Given the description of an element on the screen output the (x, y) to click on. 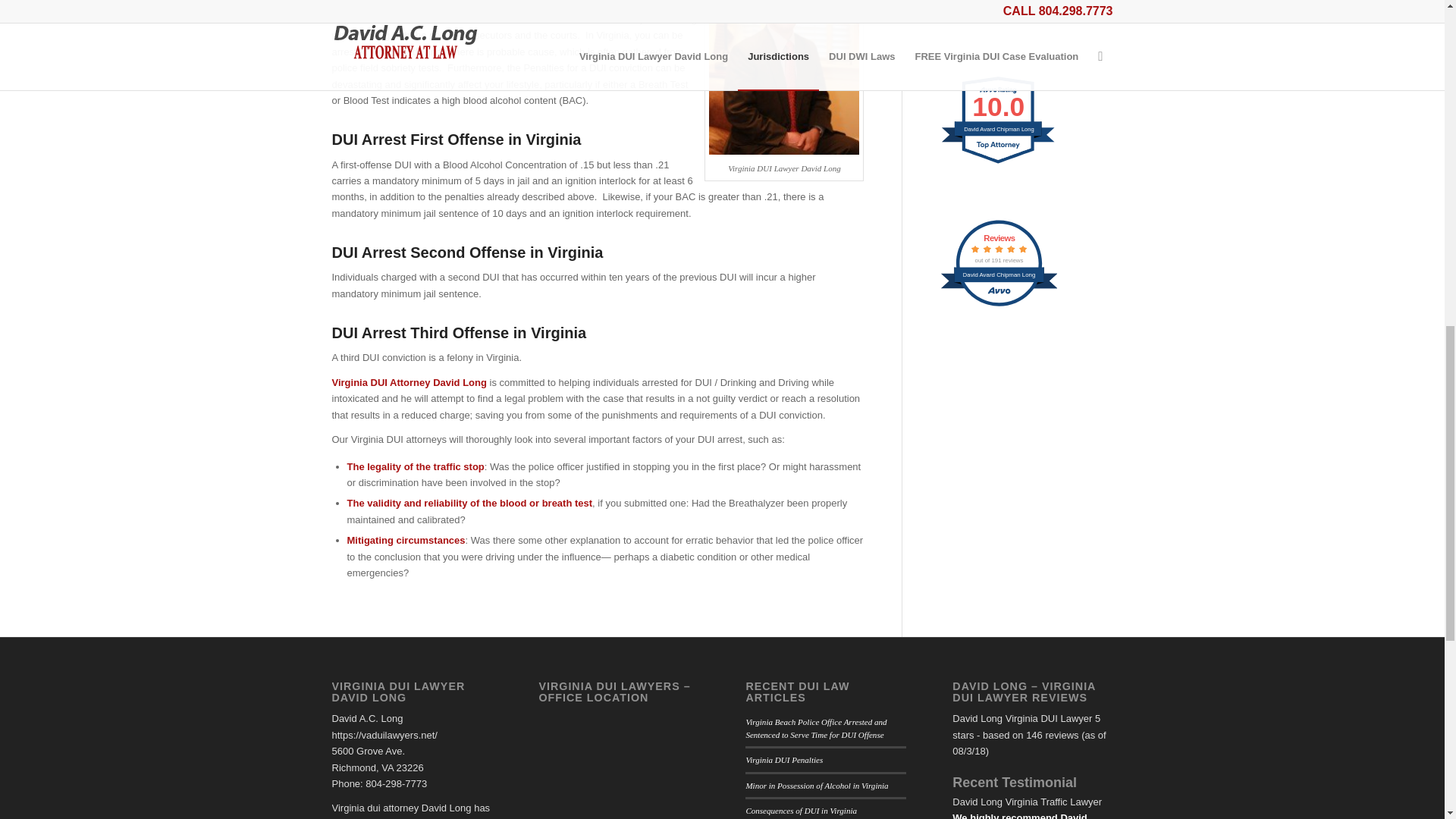
Minor in Possession of Alcohol in Virginia (999, 163)
Virginia DUI Penalties (999, 305)
Consequences of DUI in Virginia (816, 785)
